Given the description of an element on the screen output the (x, y) to click on. 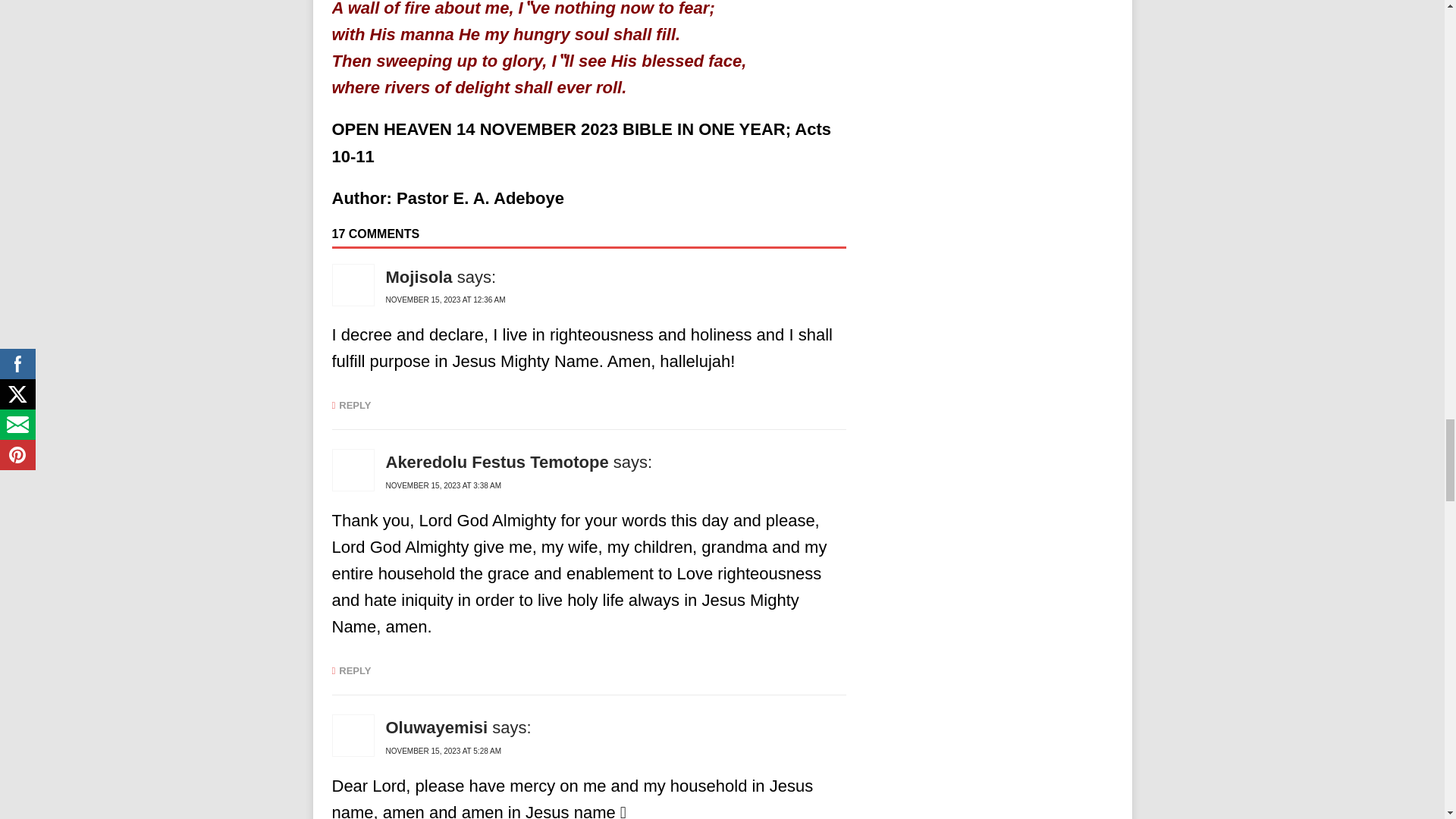
NOVEMBER 15, 2023 AT 3:38 AM (442, 485)
REPLY (351, 670)
REPLY (351, 405)
NOVEMBER 15, 2023 AT 12:36 AM (445, 299)
NOVEMBER 15, 2023 AT 5:28 AM (442, 750)
